Given the description of an element on the screen output the (x, y) to click on. 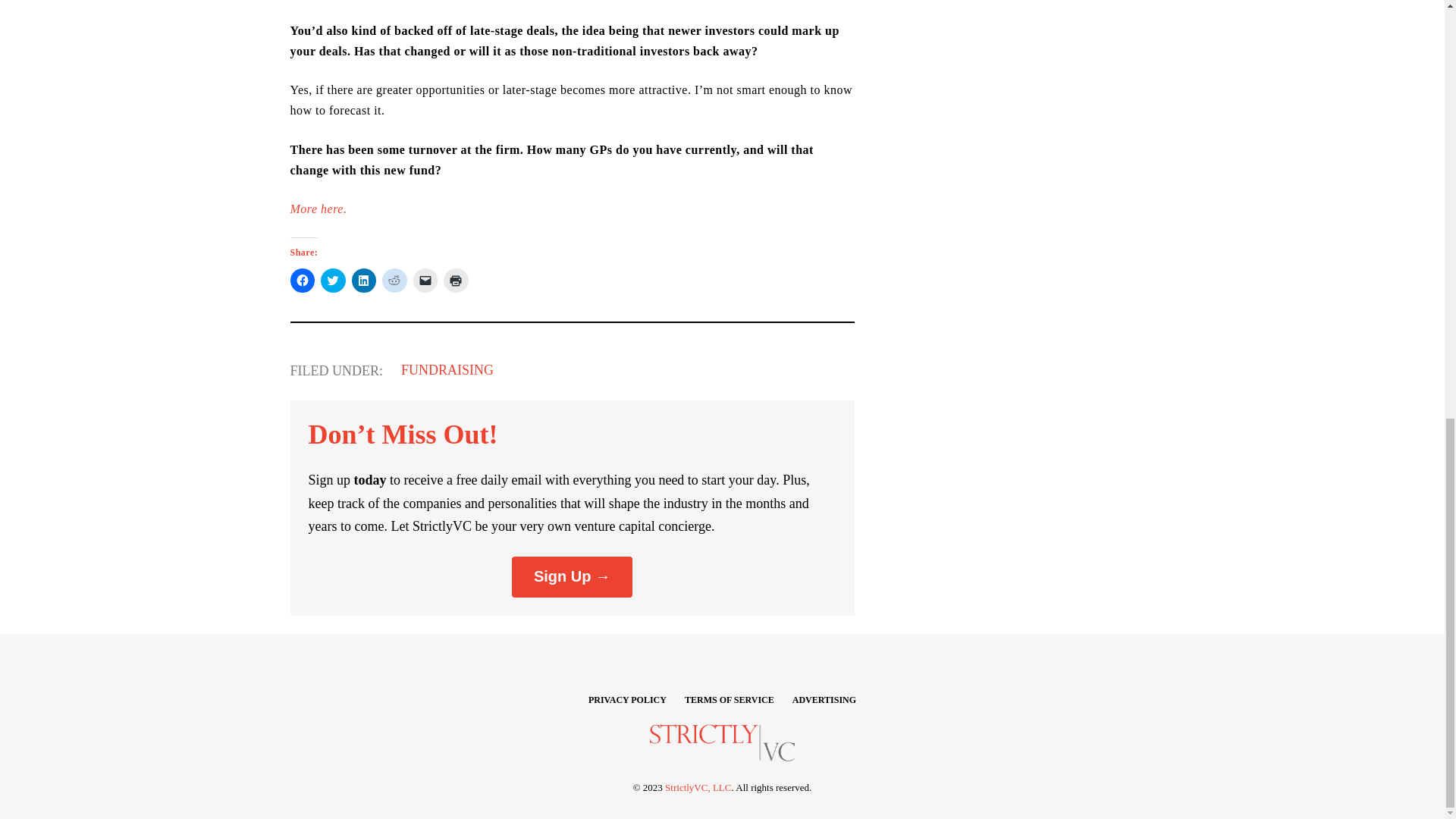
More here. (317, 208)
TERMS OF SERVICE (729, 699)
Click to share on Twitter (333, 280)
Click to share on Facebook (301, 280)
Click to share on LinkedIn (364, 280)
Click to share on Reddit (394, 280)
Click to print (456, 280)
FUNDRAISING (447, 369)
Click to email a link to a friend (425, 280)
StrictlyVC, LLC (697, 787)
ADVERTISING (824, 699)
PRIVACY POLICY (627, 699)
